Given the description of an element on the screen output the (x, y) to click on. 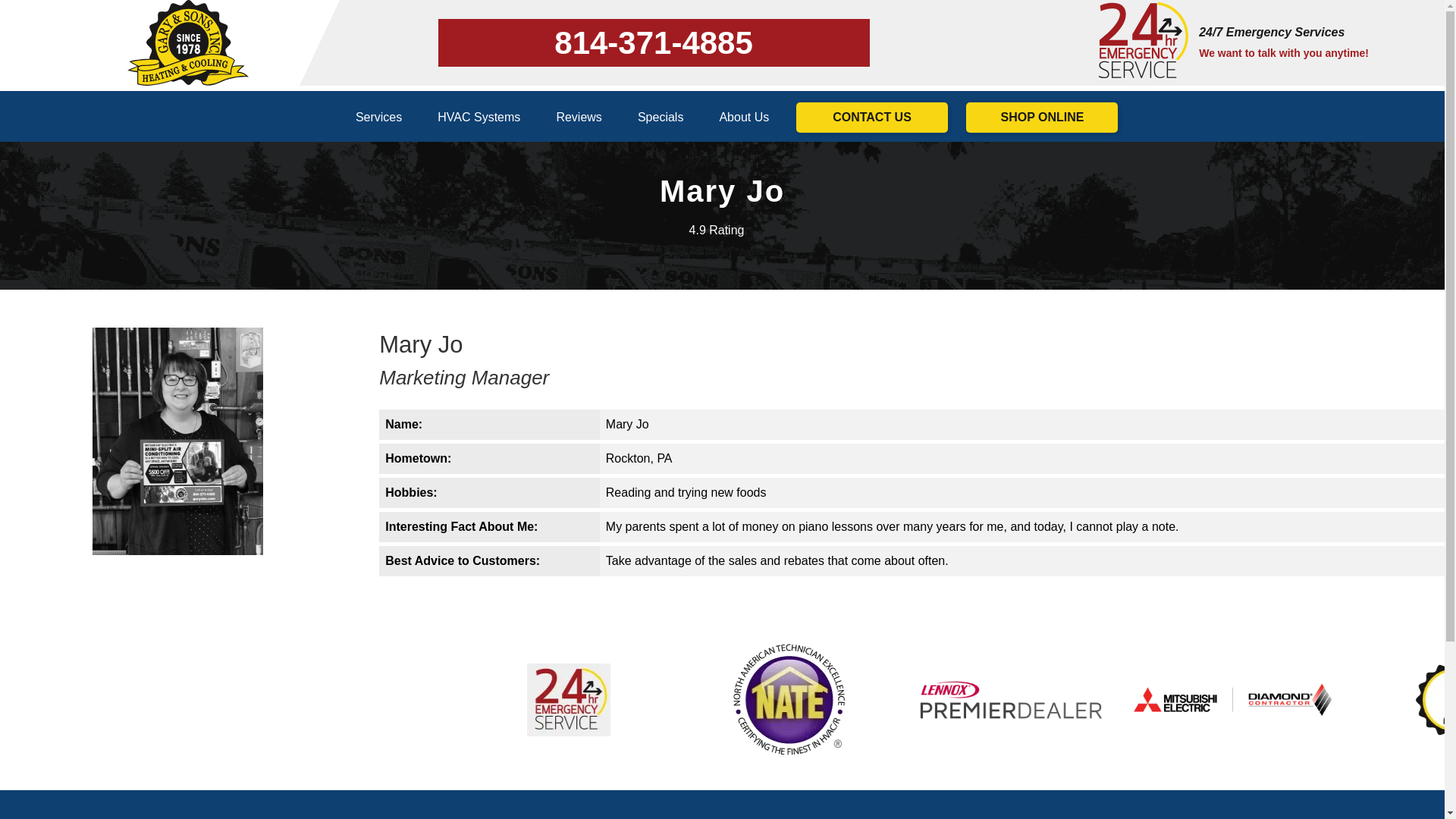
Reviews (578, 116)
Services (378, 116)
HVAC Systems (479, 116)
814-371-4885 (653, 42)
